Given the description of an element on the screen output the (x, y) to click on. 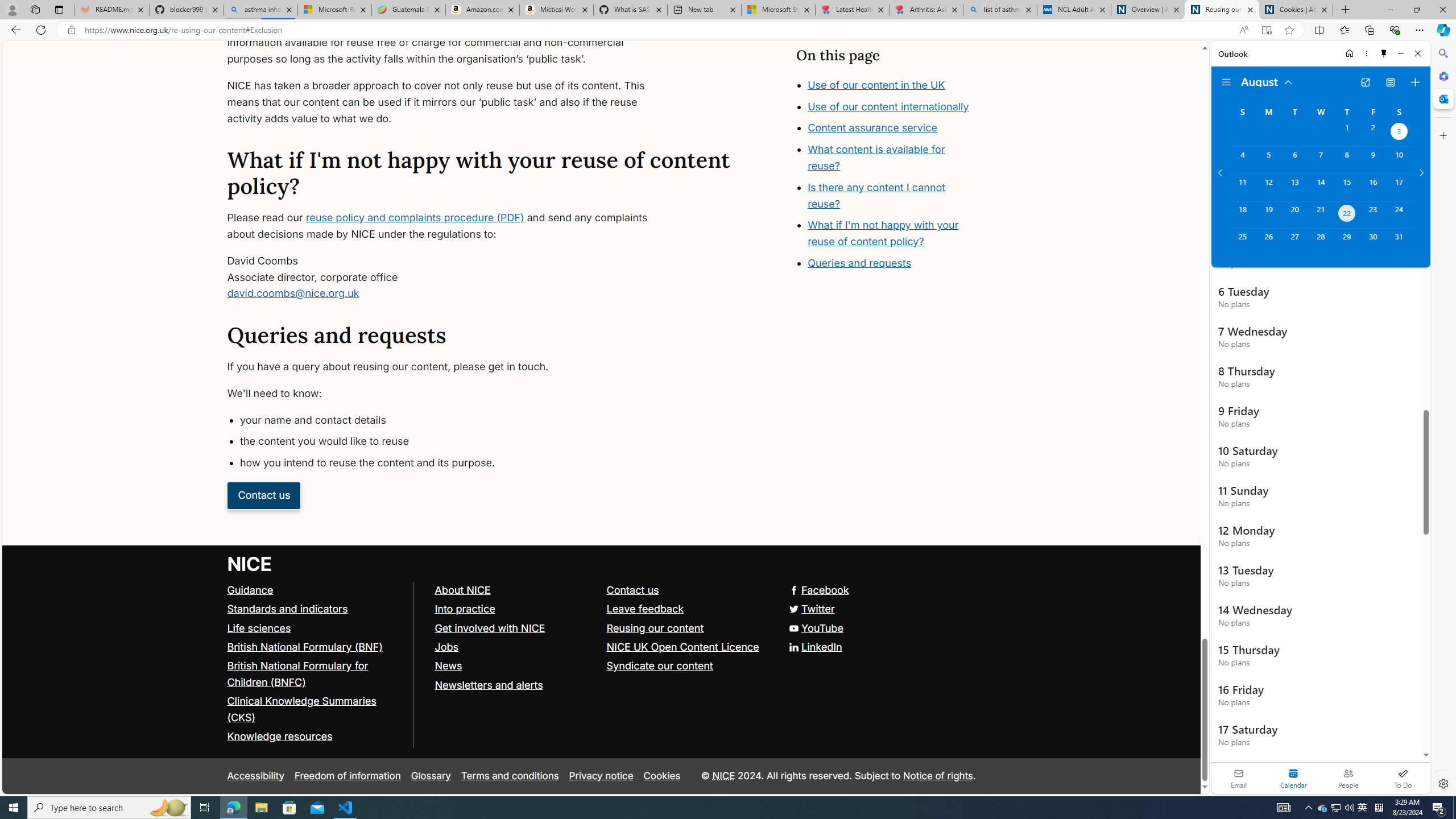
YouTube (815, 627)
how you intend to reuse the content and its purpose. (452, 463)
Twitter (810, 608)
Saturday, August 3, 2024. Date selected.  (1399, 132)
Reusing our content (686, 628)
NICE UK Open Content Licence (686, 647)
Thursday, August 29, 2024.  (1346, 241)
Sunday, August 4, 2024.  (1242, 159)
August (1267, 80)
Monday, August 12, 2024.  (1268, 186)
Friday, August 23, 2024.  (1372, 214)
NICE UK Open Content Licence (681, 646)
